Given the description of an element on the screen output the (x, y) to click on. 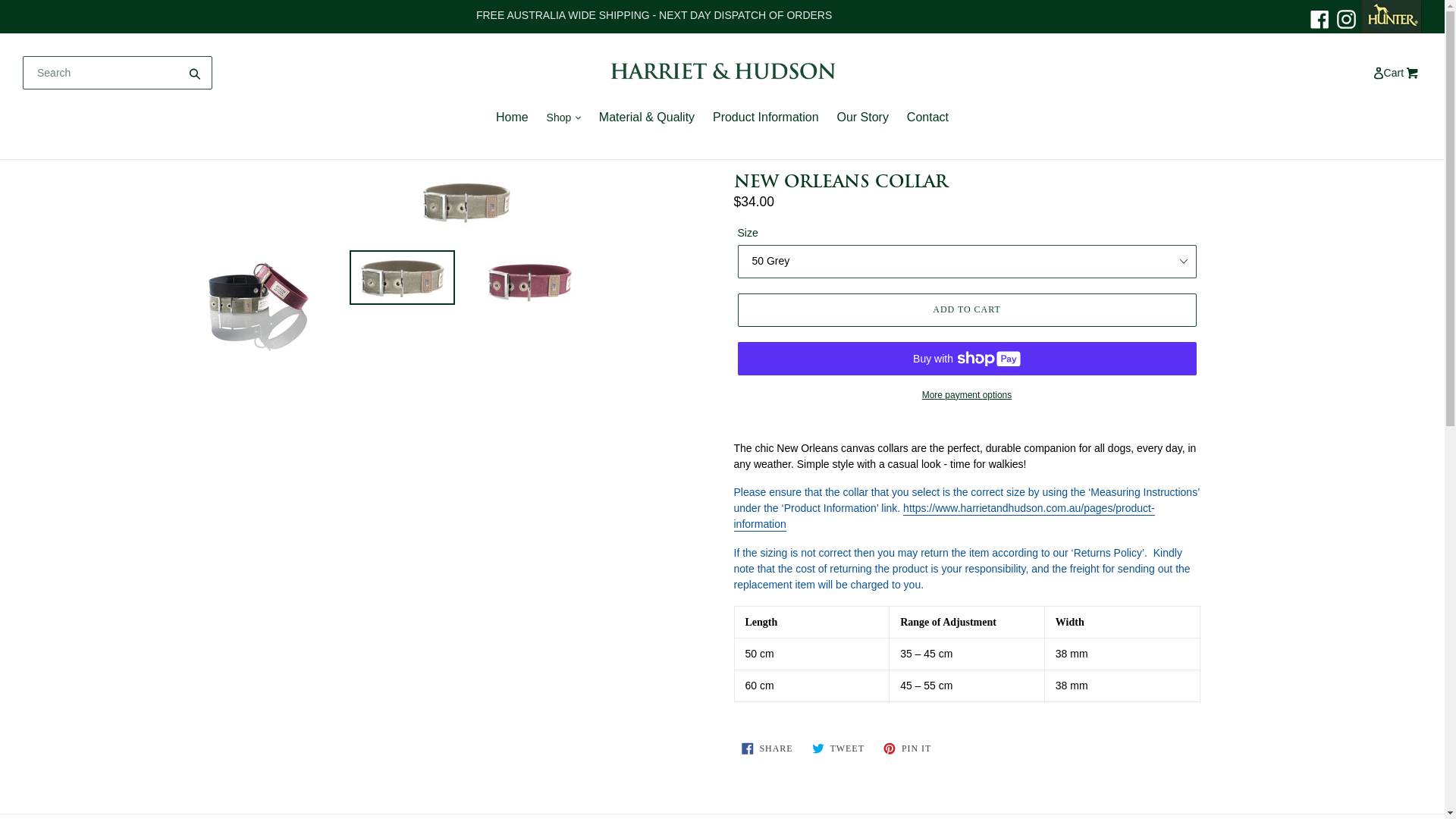
TWEET
TWEET ON TWITTER Element type: text (838, 748)
More payment options Element type: text (966, 394)
PIN IT
PIN ON PINTEREST Element type: text (906, 748)
Material & Quality Element type: text (646, 118)
Log in Element type: text (1379, 72)
Facebook Element type: text (1319, 18)
ADD TO CART Element type: text (966, 309)
Our Story Element type: text (861, 118)
Submit Element type: text (195, 72)
Instagram Element type: text (1346, 18)
Product Information Element type: text (765, 118)
Contact Element type: text (927, 118)
SHARE
SHARE ON FACEBOOK Element type: text (767, 748)
Home Element type: text (512, 118)
Cart
Cart Element type: text (1402, 72)
